Given the description of an element on the screen output the (x, y) to click on. 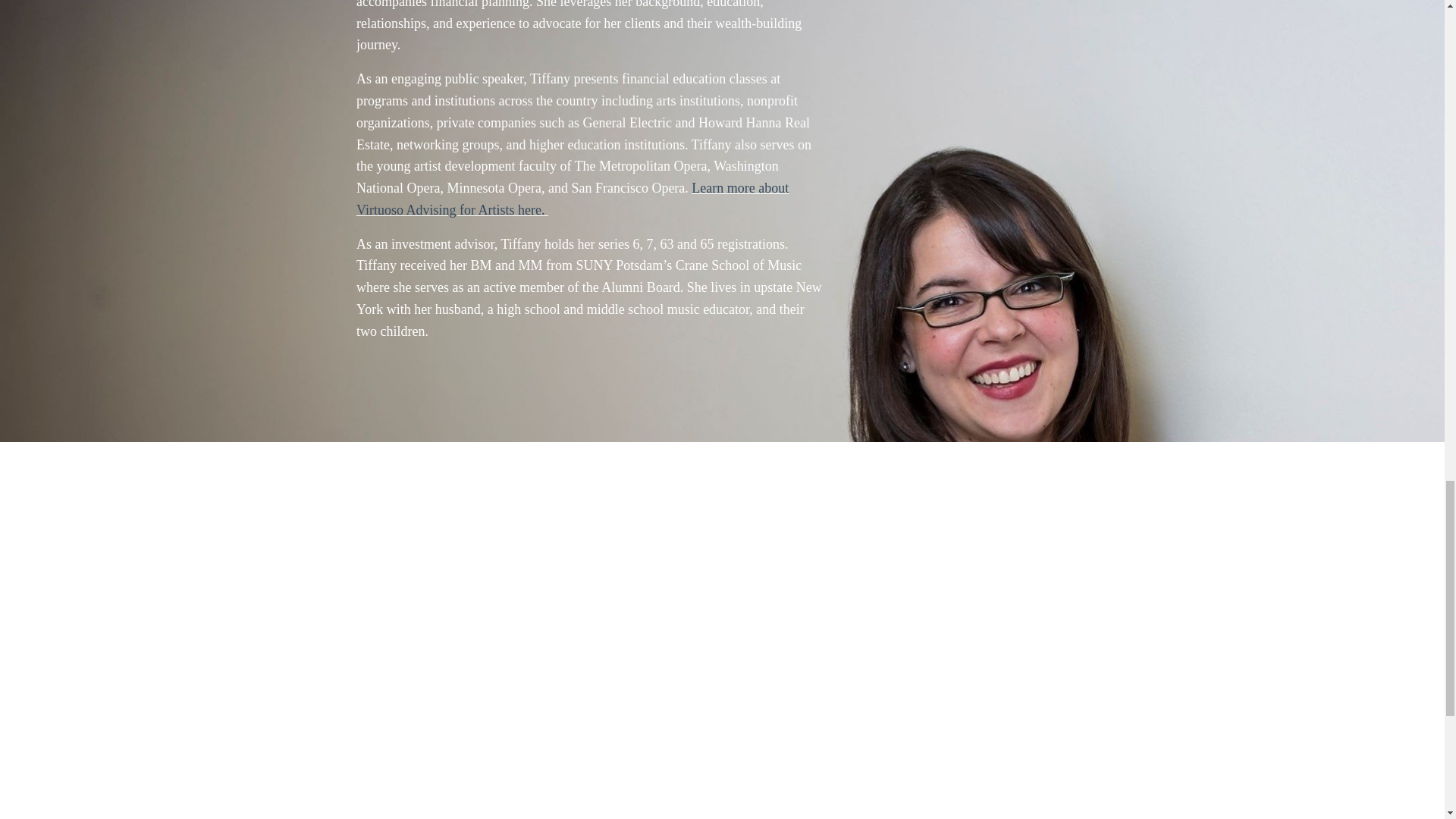
Learn more about Virtuoso Advising for Artists here.  (572, 198)
